Given the description of an element on the screen output the (x, y) to click on. 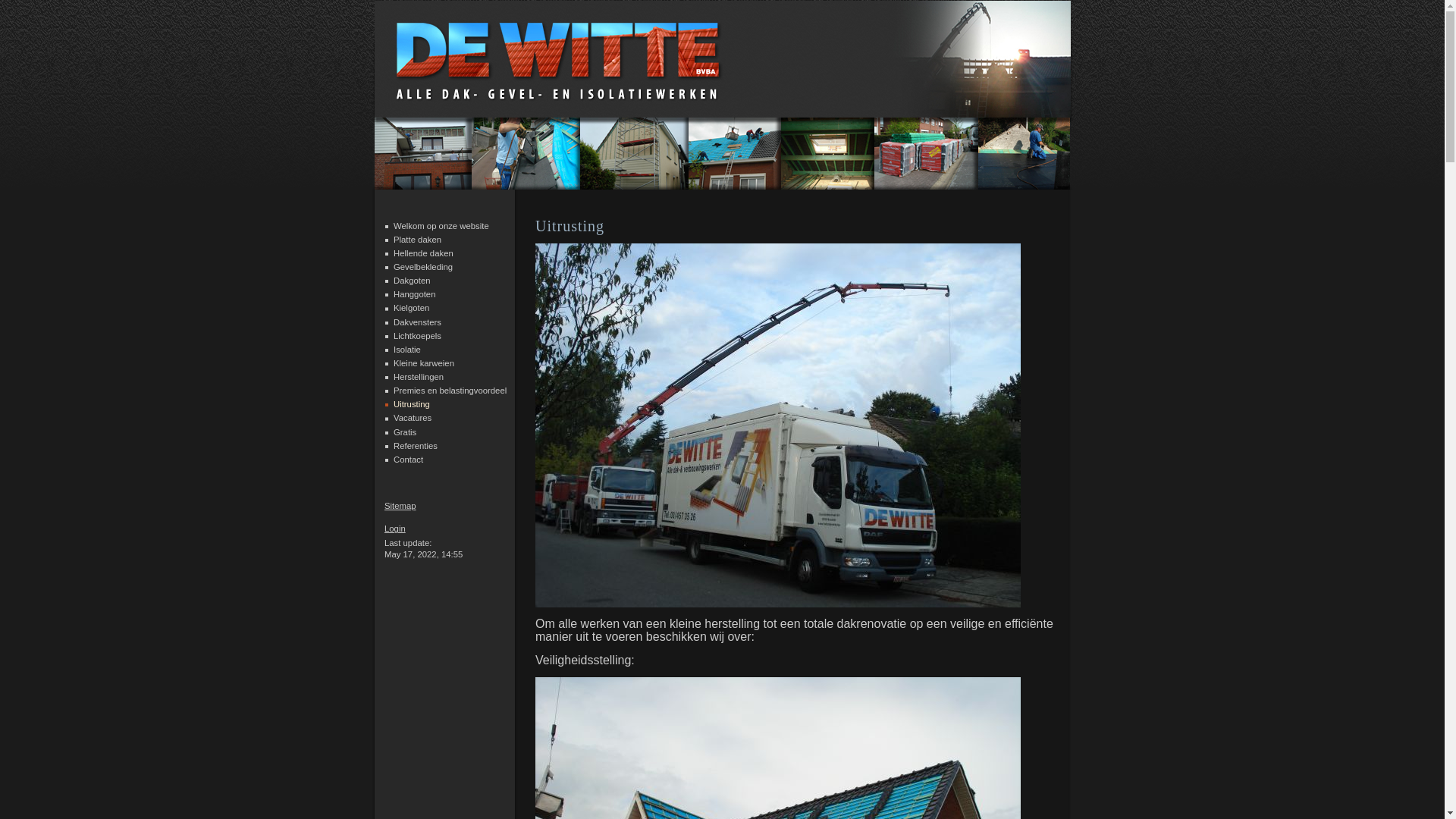
Gevelbekleding Element type: text (422, 266)
Vacatures Element type: text (412, 417)
Sitemap Element type: text (400, 505)
Dakvensters Element type: text (417, 321)
Hellende daken Element type: text (423, 252)
Gratis Element type: text (404, 431)
Lichtkoepels Element type: text (417, 335)
Hanggoten Element type: text (414, 293)
Kielgoten Element type: text (411, 307)
Contact Element type: text (408, 459)
Isolatie Element type: text (406, 349)
Platte daken Element type: text (417, 239)
Premies en belastingvoordeel Element type: text (449, 390)
Dakgoten Element type: text (411, 280)
Referenties Element type: text (415, 445)
Welkom op onze website Element type: text (441, 225)
Login Element type: text (394, 528)
Kleine karweien Element type: text (423, 362)
Herstellingen Element type: text (418, 376)
